Given the description of an element on the screen output the (x, y) to click on. 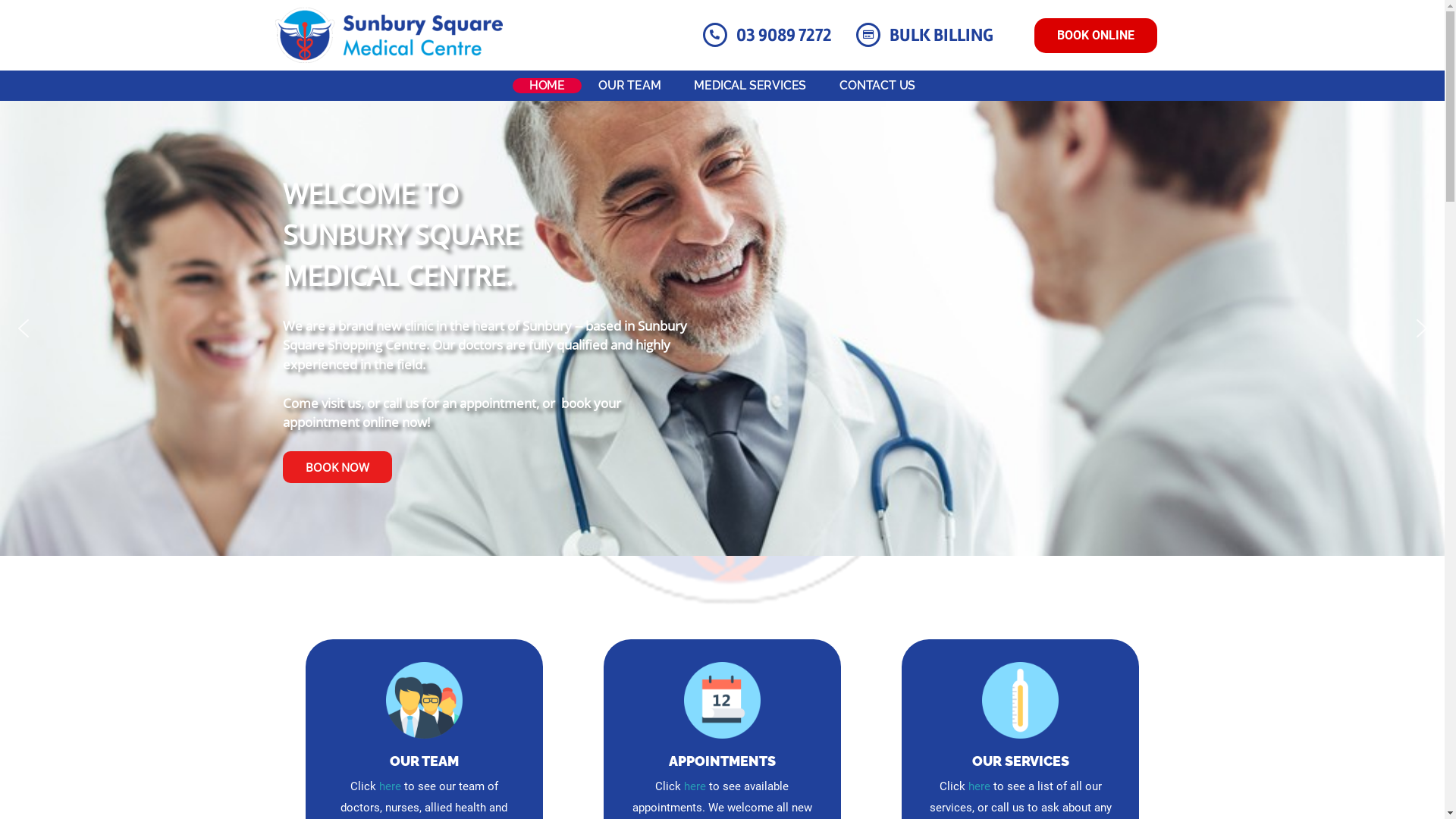
BOOK ONLINE Element type: text (1095, 35)
03 9089 7272 Element type: text (783, 35)
here Element type: text (390, 786)
OUR TEAM Element type: text (423, 760)
MEDICAL SERVICES Element type: text (749, 85)
HOME Element type: text (546, 85)
here Element type: text (979, 786)
here Element type: text (695, 786)
OUR TEAM Element type: text (629, 85)
CONTACT US Element type: text (876, 85)
BOOK NOW Element type: text (336, 466)
